Given the description of an element on the screen output the (x, y) to click on. 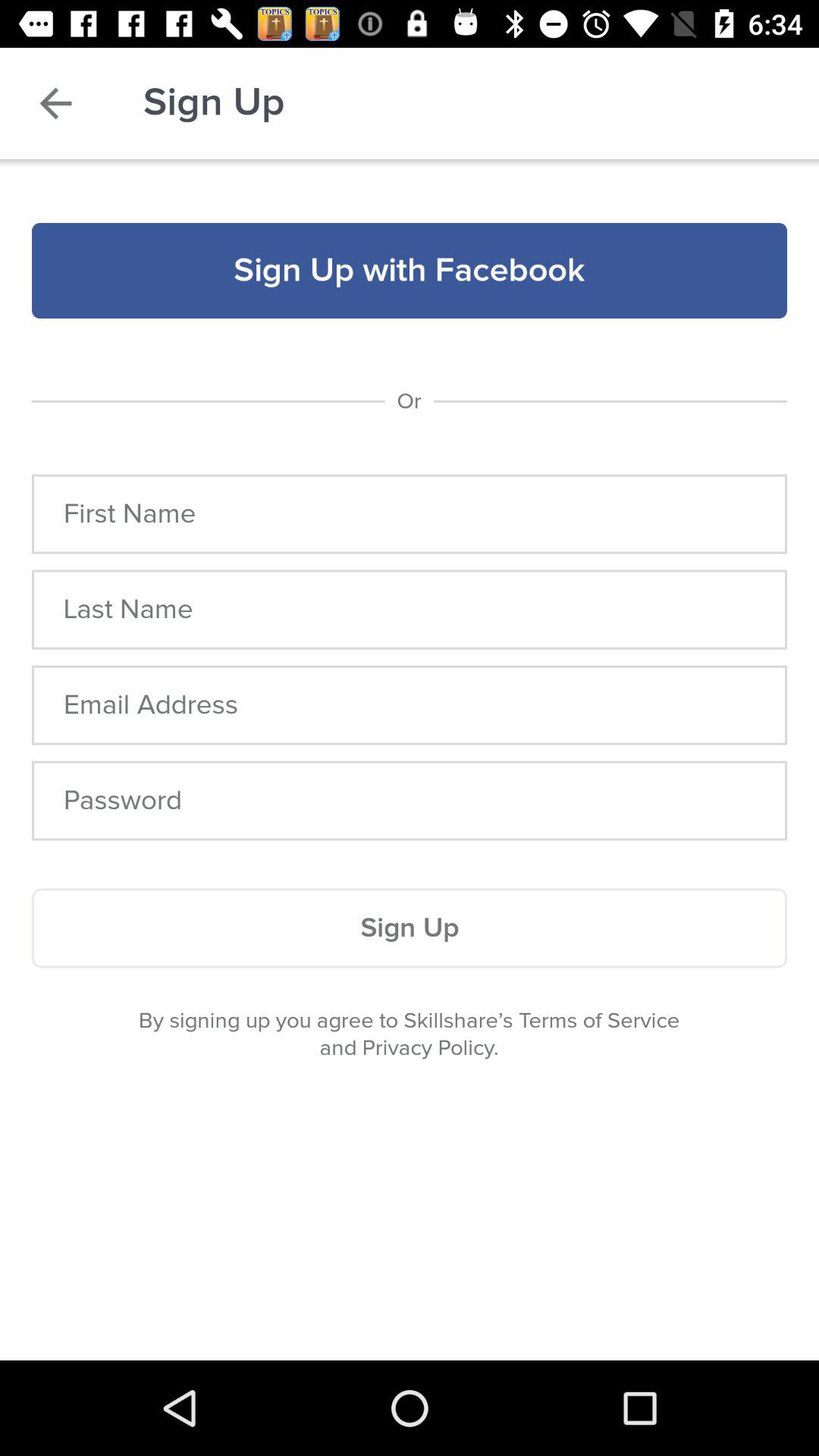
press the icon to the left of the sign up icon (55, 103)
